Given the description of an element on the screen output the (x, y) to click on. 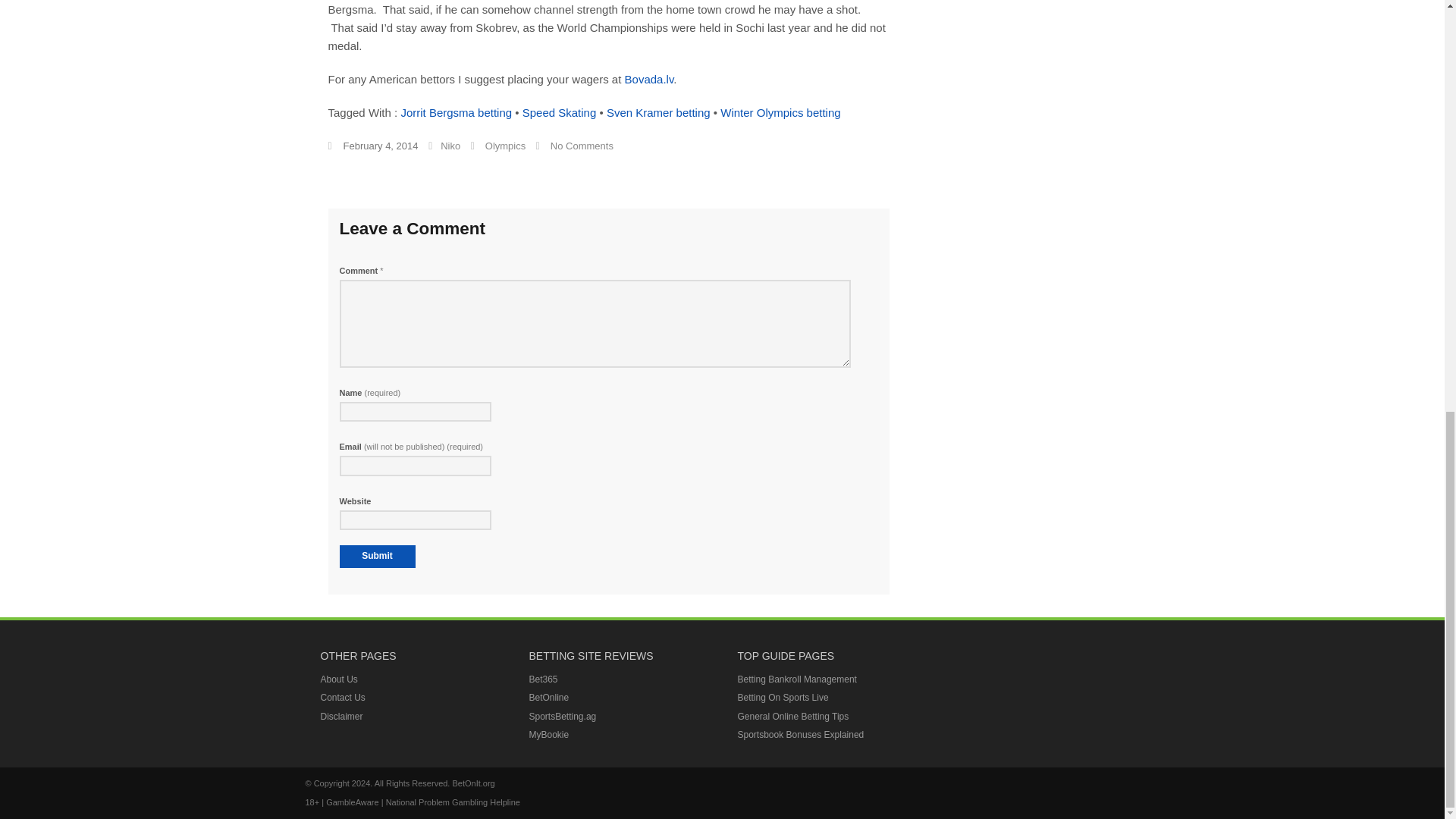
Submit (376, 556)
